Given the description of an element on the screen output the (x, y) to click on. 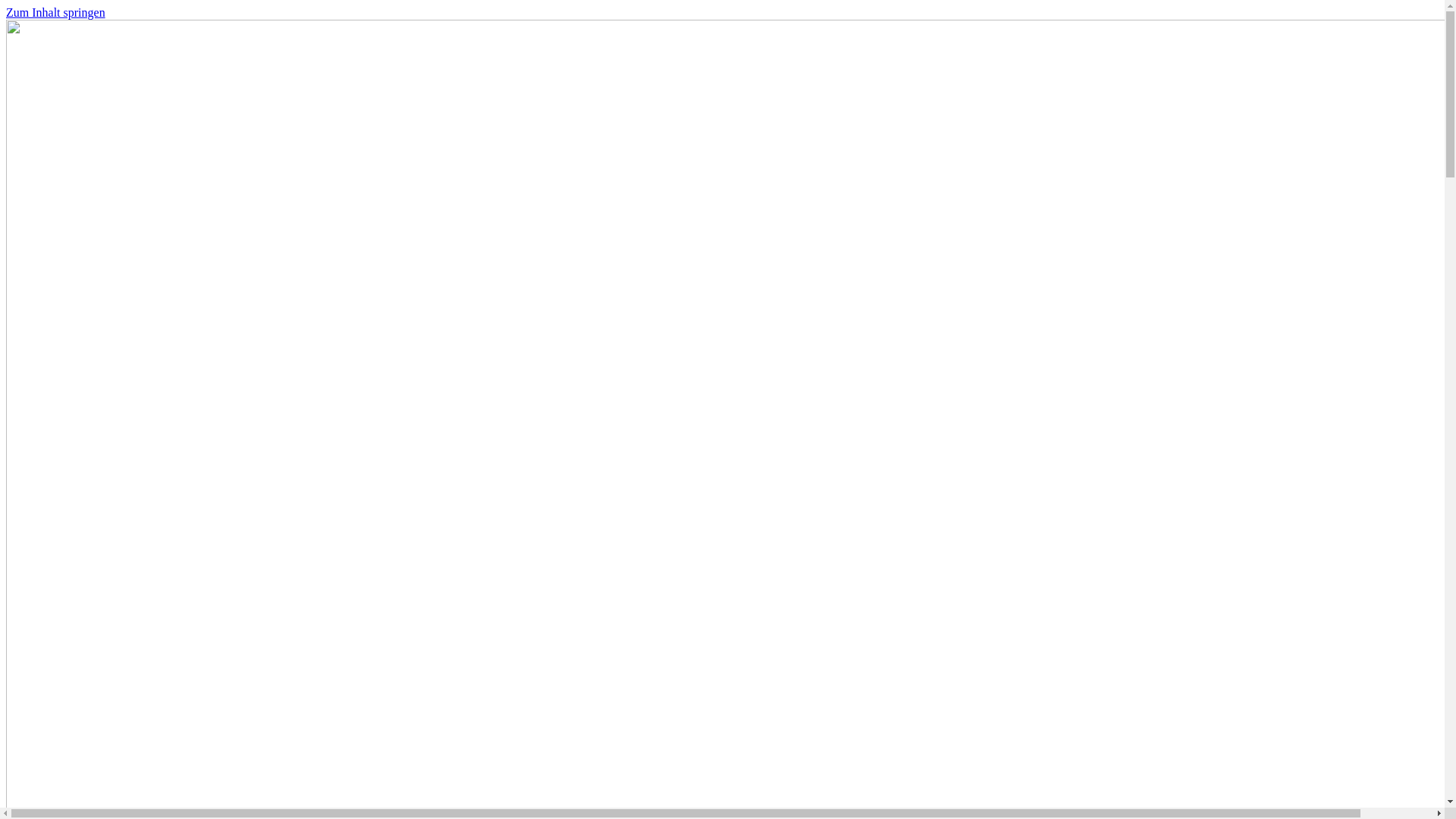
Zum Inhalt springen Element type: text (55, 12)
